Given the description of an element on the screen output the (x, y) to click on. 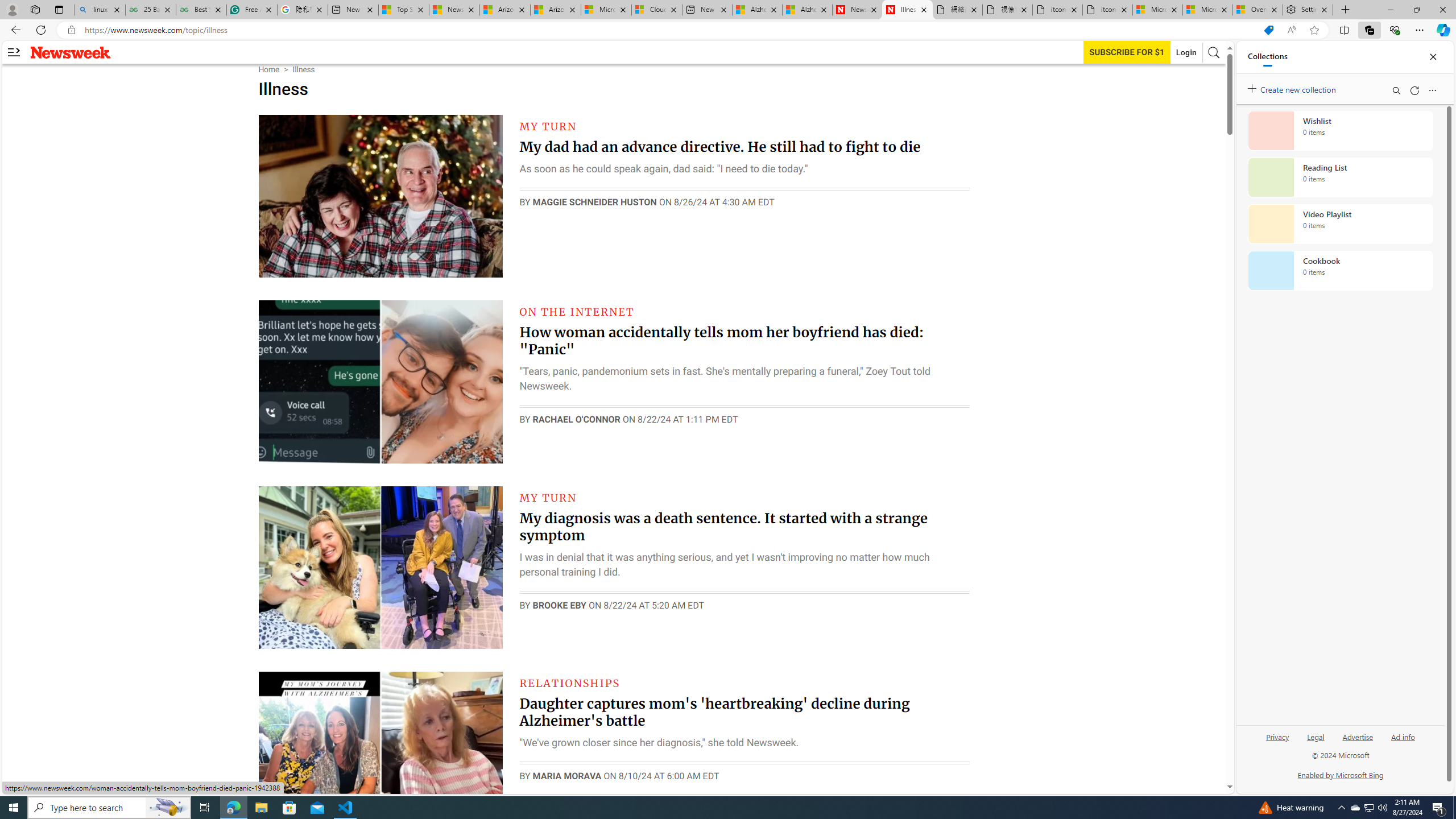
25 Basic Linux Commands For Beginners - GeeksforGeeks (150, 9)
Wishlist collection, 0 items (1339, 130)
Create new collection (1293, 87)
Video Playlist collection, 0 items (1339, 223)
